Given the description of an element on the screen output the (x, y) to click on. 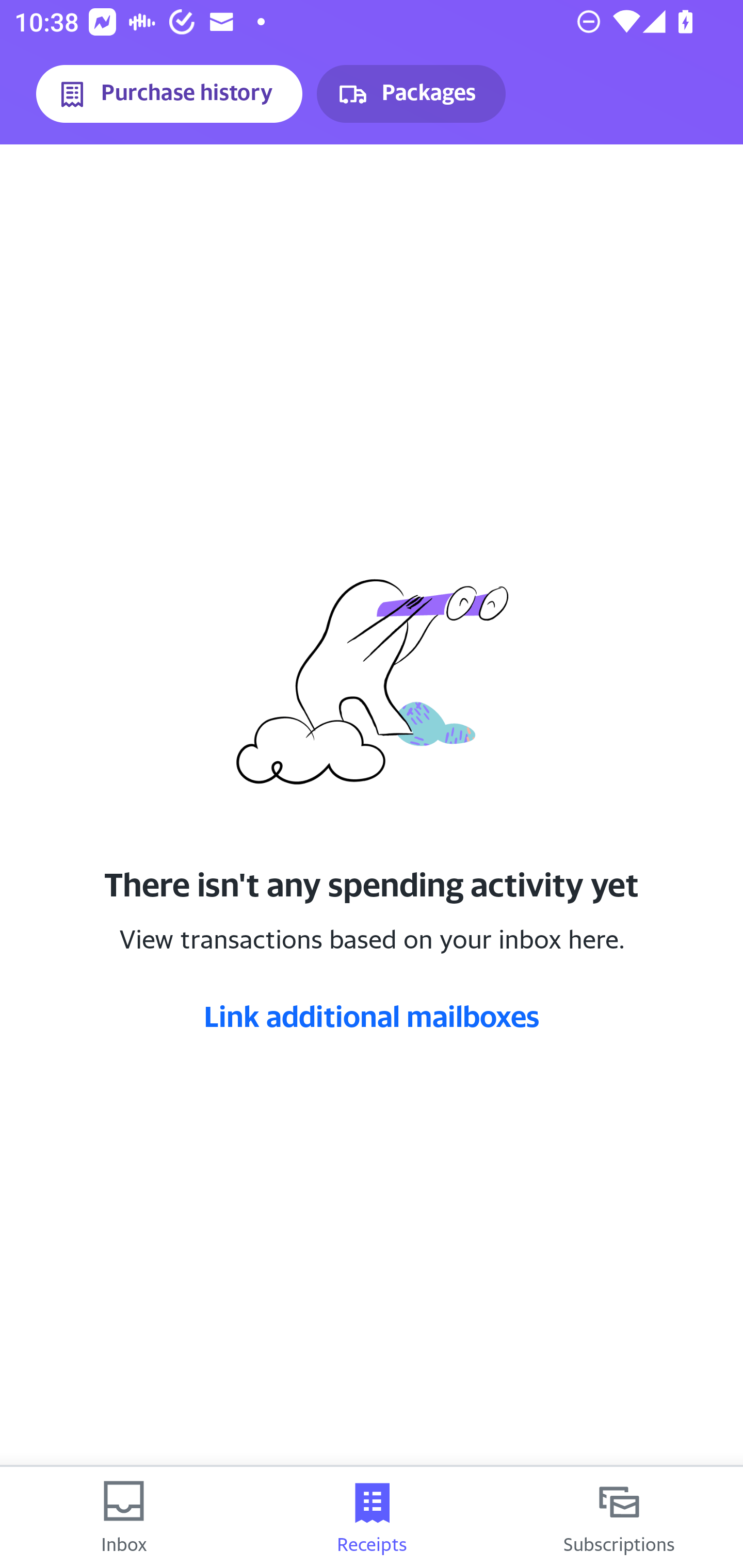
Packages (410, 93)
Link additional mailboxes (371, 1015)
Inbox (123, 1517)
Receipts (371, 1517)
Subscriptions (619, 1517)
